Given the description of an element on the screen output the (x, y) to click on. 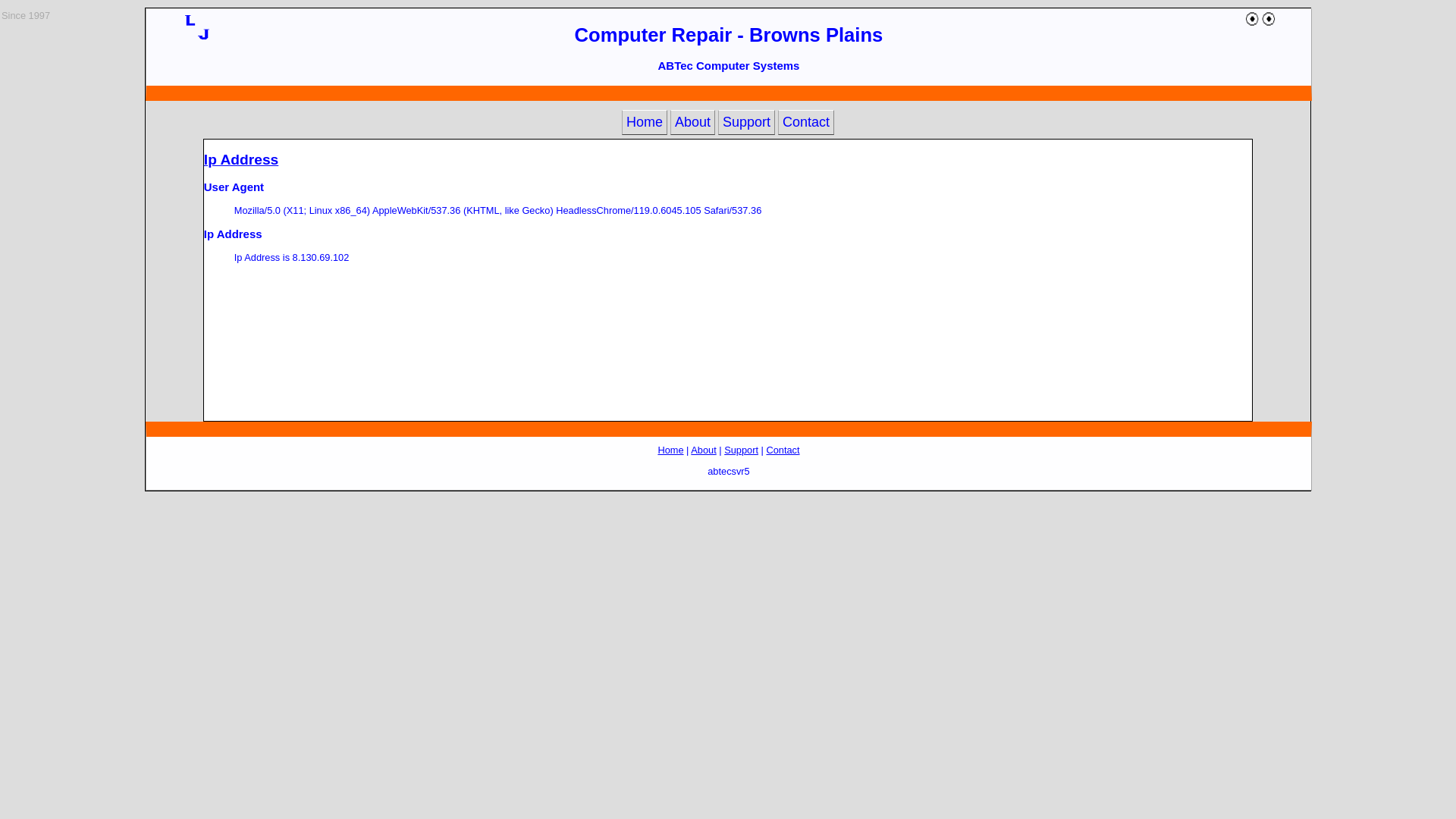
Home Element type: text (644, 121)
About Element type: text (702, 449)
Home Element type: text (670, 449)
Support Element type: text (741, 449)
Contact Element type: text (782, 449)
About Element type: text (692, 121)
Support Element type: text (746, 121)
Contact Element type: text (806, 121)
